Given the description of an element on the screen output the (x, y) to click on. 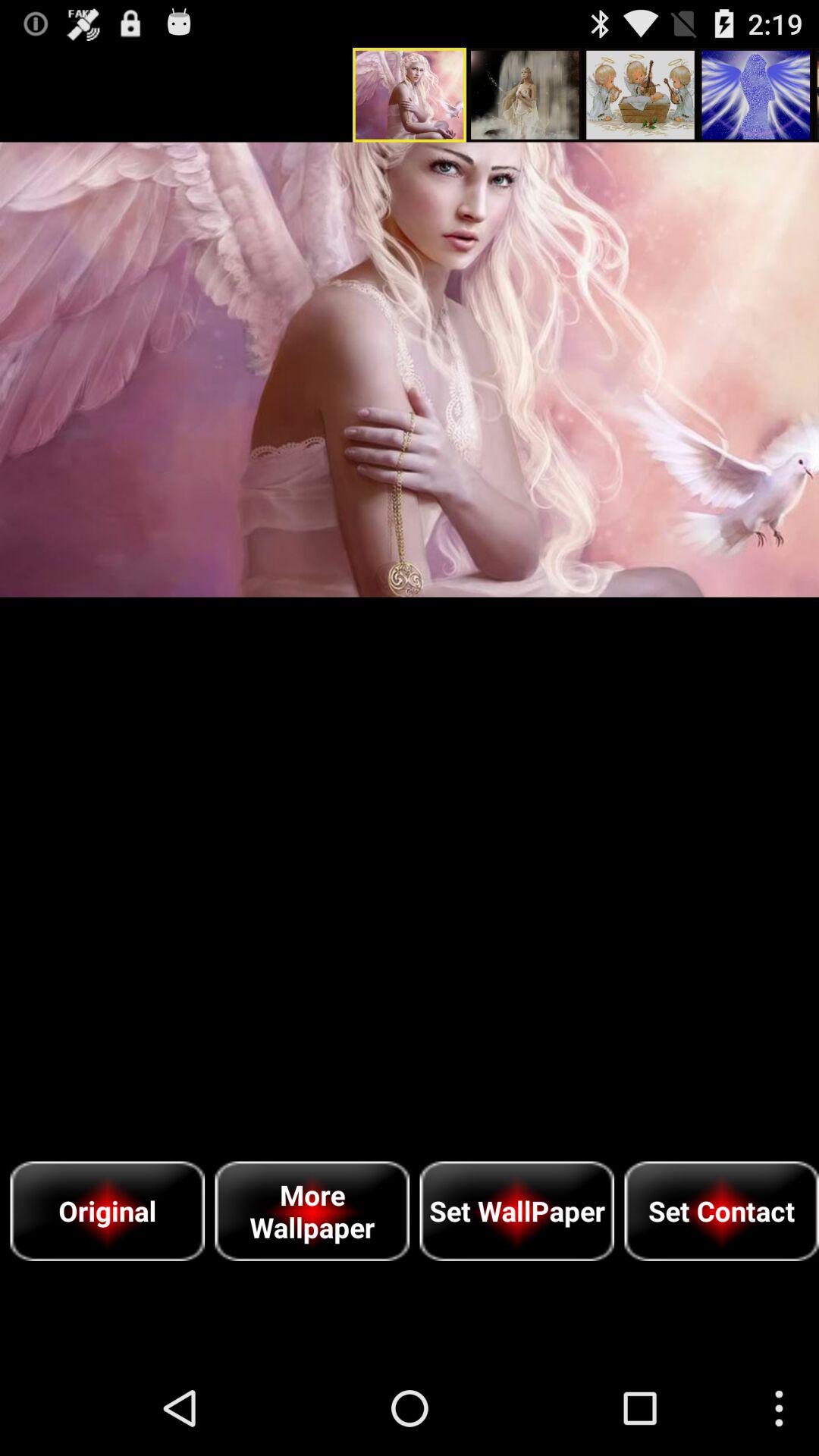
launch set contact item (721, 1210)
